Given the description of an element on the screen output the (x, y) to click on. 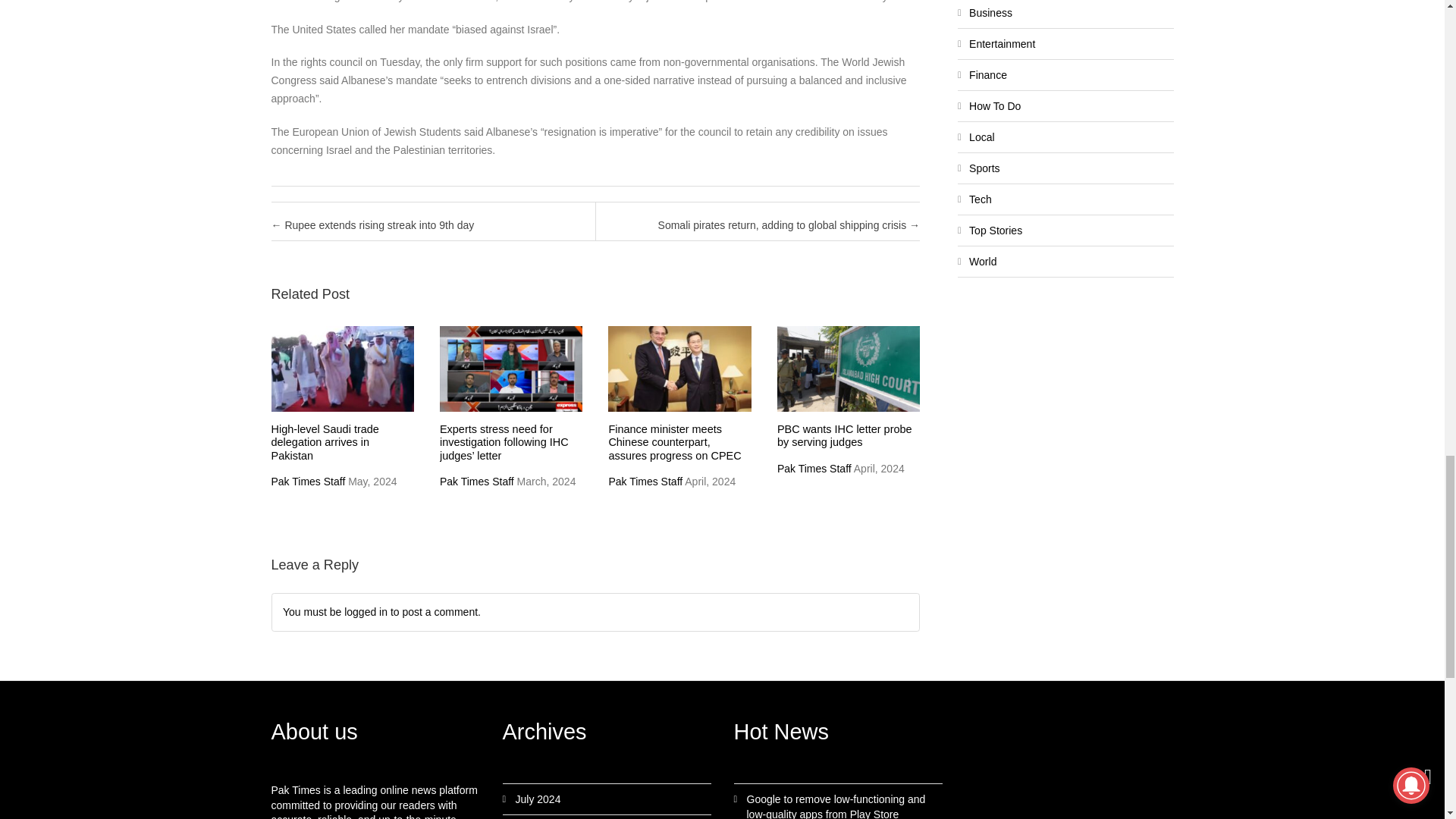
High-level Saudi trade delegation arrives in Pakistan (324, 442)
Pak Times Staff (308, 481)
High-level Saudi trade delegation arrives in Pakistan (324, 442)
Pak Times Staff (476, 481)
PBC wants IHC letter probe by serving judges (844, 435)
